Given the description of an element on the screen output the (x, y) to click on. 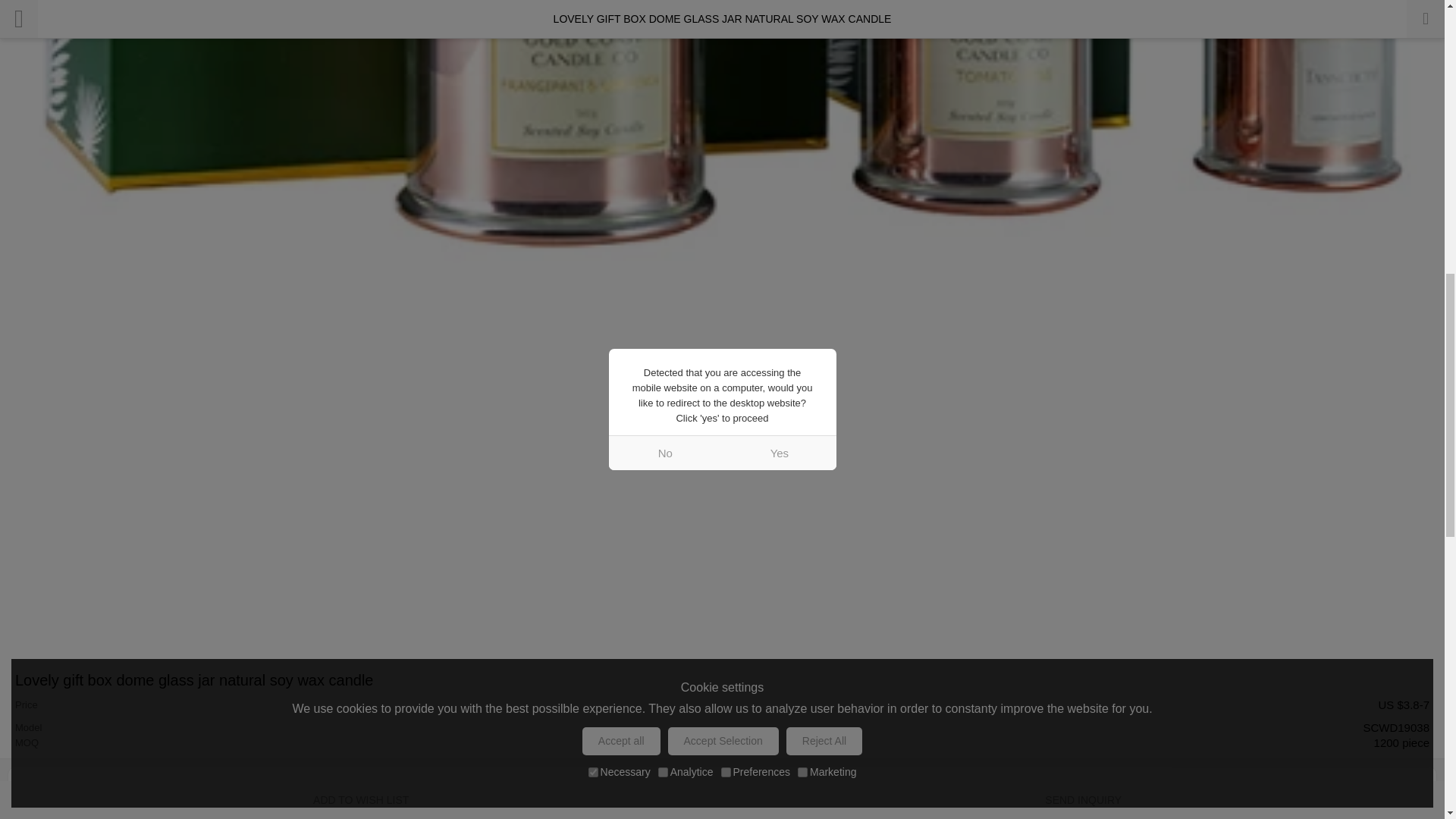
MORE (1409, 789)
Review (1409, 789)
